Given the description of an element on the screen output the (x, y) to click on. 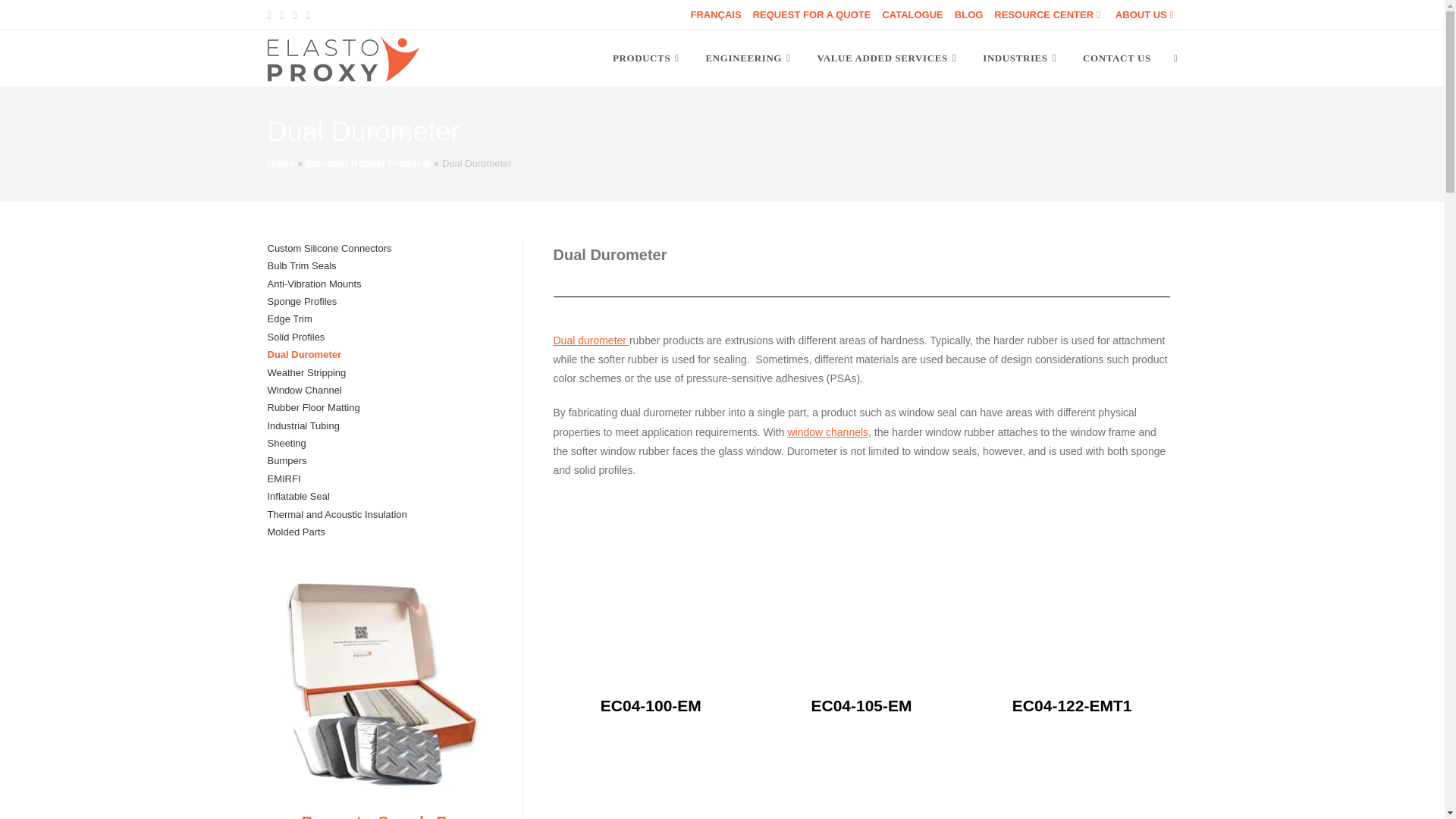
ABOUT US (1146, 14)
REQUEST FOR A QUOTE (811, 14)
CATALOGUE (912, 14)
RESOURCE CENTER (1048, 14)
BLOG (969, 14)
